Given the description of an element on the screen output the (x, y) to click on. 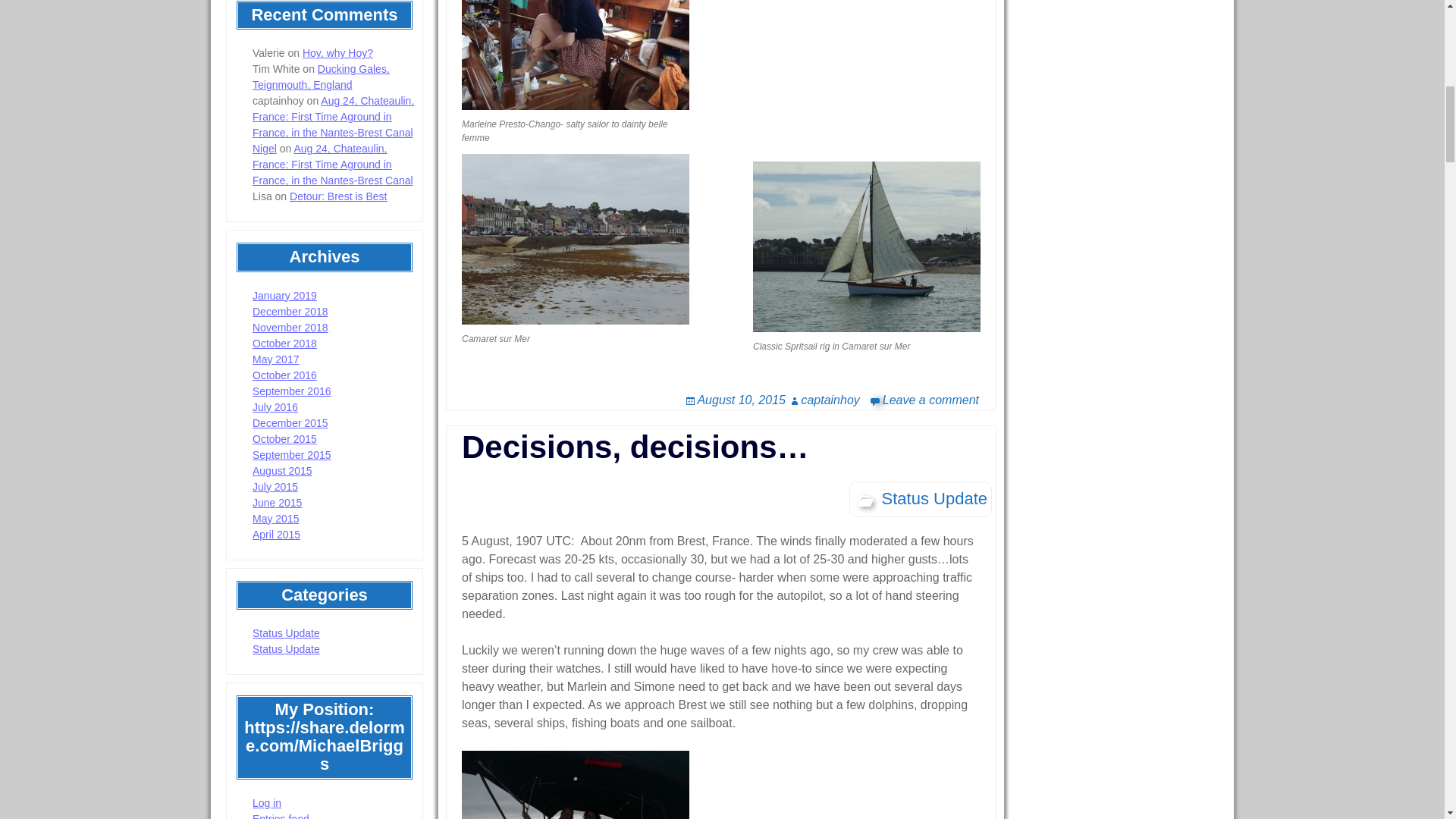
January 2019 (284, 295)
April 2015 (275, 534)
June 2015 (276, 502)
May 2015 (274, 518)
October 2016 (284, 375)
November 2018 (290, 327)
Ducking Gales, Teignmouth, England (320, 76)
July 2016 (274, 407)
December 2015 (290, 422)
Nigel (263, 148)
September 2016 (291, 390)
October 2015 (284, 439)
July 2015 (274, 486)
October 2018 (284, 343)
